Given the description of an element on the screen output the (x, y) to click on. 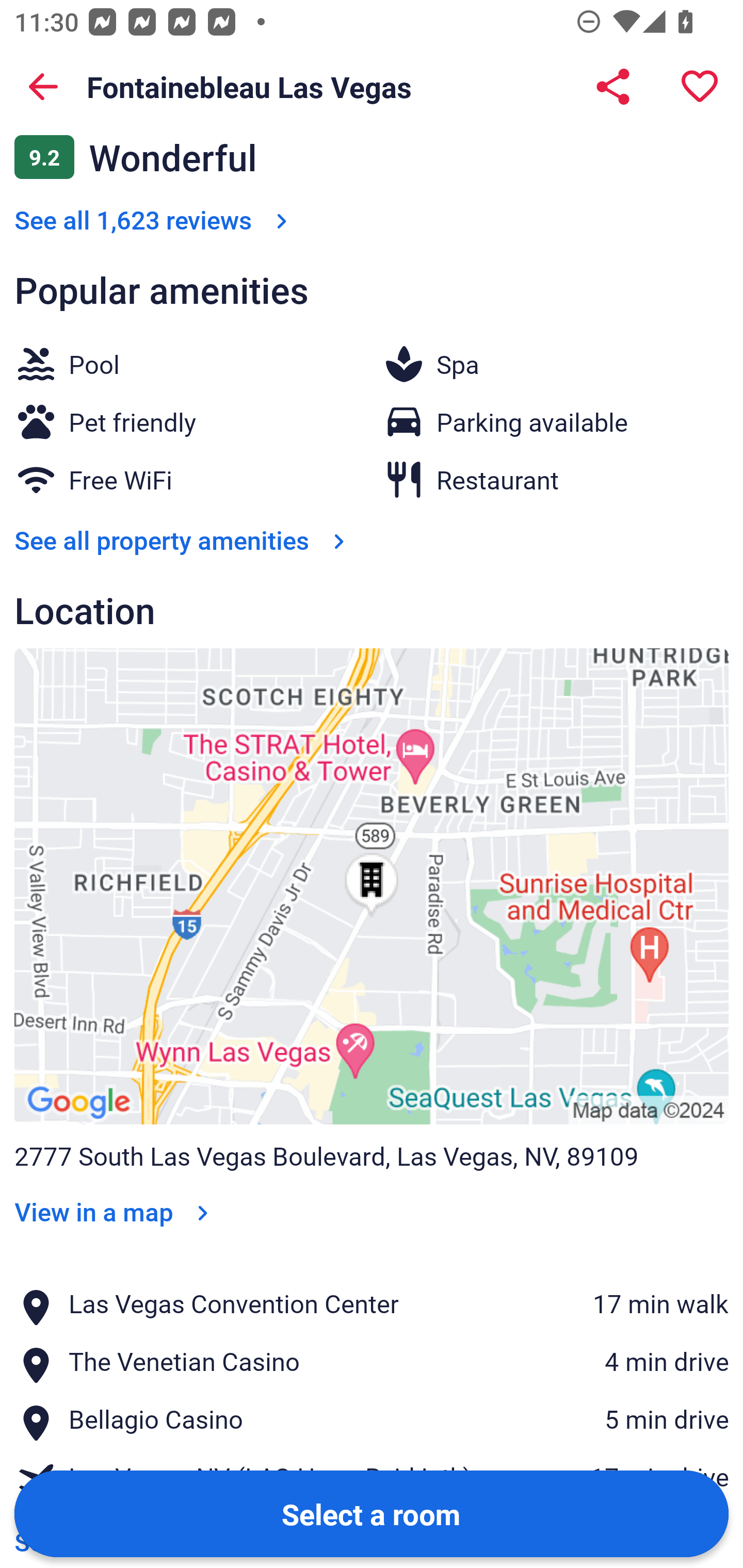
Back (43, 86)
Save property to a trip (699, 86)
Share Fontainebleau Las Vegas (612, 87)
See all 1,623 reviews See all 1,623 reviews Link (154, 219)
See all property amenities (183, 540)
Select a room Button Select a room (371, 1513)
